Given the description of an element on the screen output the (x, y) to click on. 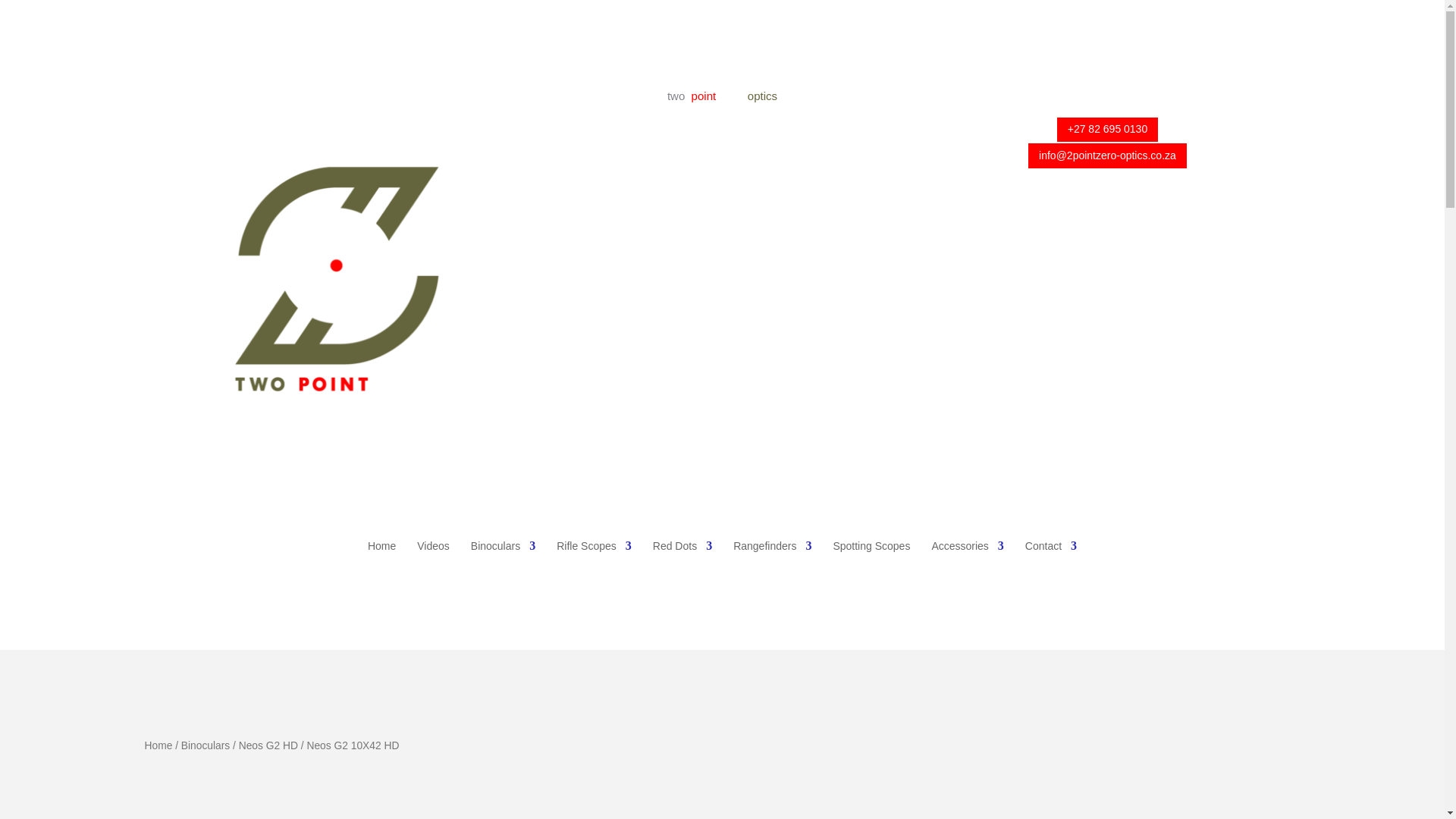
Videos (432, 545)
Binoculars (502, 545)
Rifle Scopes (593, 545)
Follow on Facebook (1091, 98)
Follow on Youtube (1121, 98)
